Given the description of an element on the screen output the (x, y) to click on. 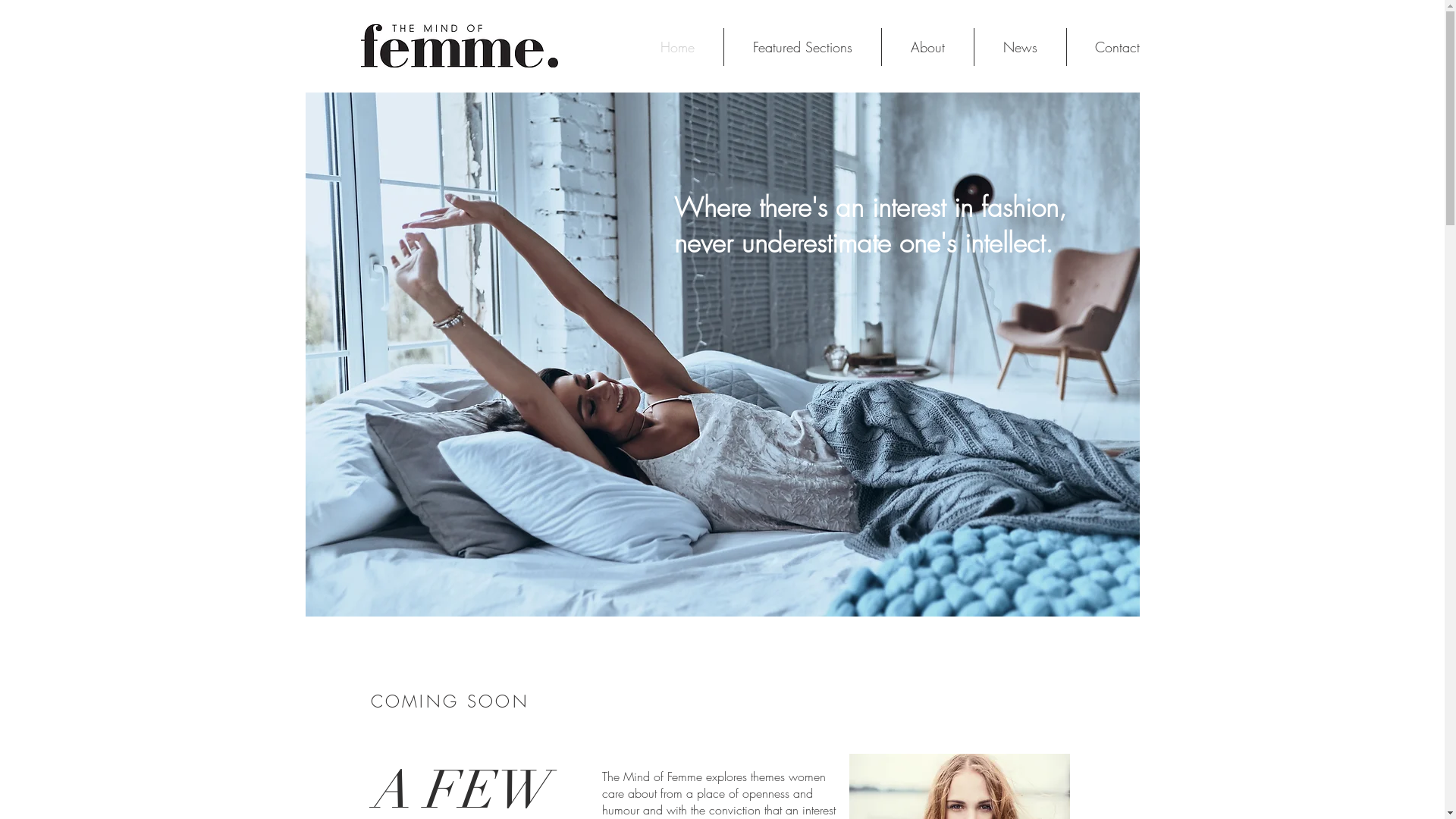
Home Element type: text (676, 46)
Contact Element type: text (1117, 46)
News Element type: text (1019, 46)
JM_BofB_TMOF_logo_BLK.jpg Element type: hover (459, 45)
About Element type: text (927, 46)
Featured Sections Element type: text (802, 46)
